Given the description of an element on the screen output the (x, y) to click on. 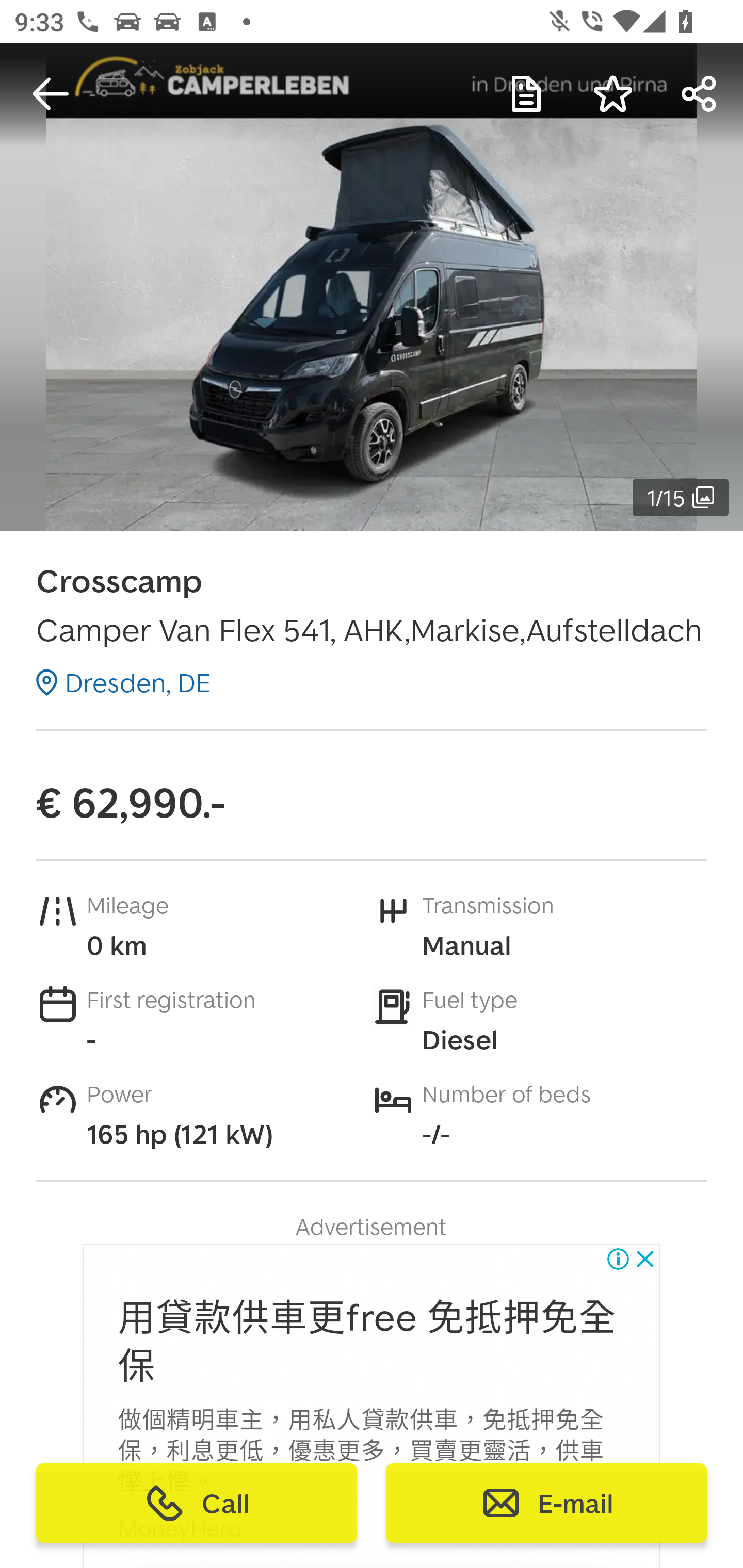
Navigate up (50, 93)
My Notes (525, 93)
Save (612, 93)
Forward (699, 93)
Dresden, DE (123, 681)
用貸款供車更free 免抵押免全 保 用貸款供車更free 免抵押免全 保 (366, 1342)
Call (196, 1502)
E-mail (545, 1502)
